Given the description of an element on the screen output the (x, y) to click on. 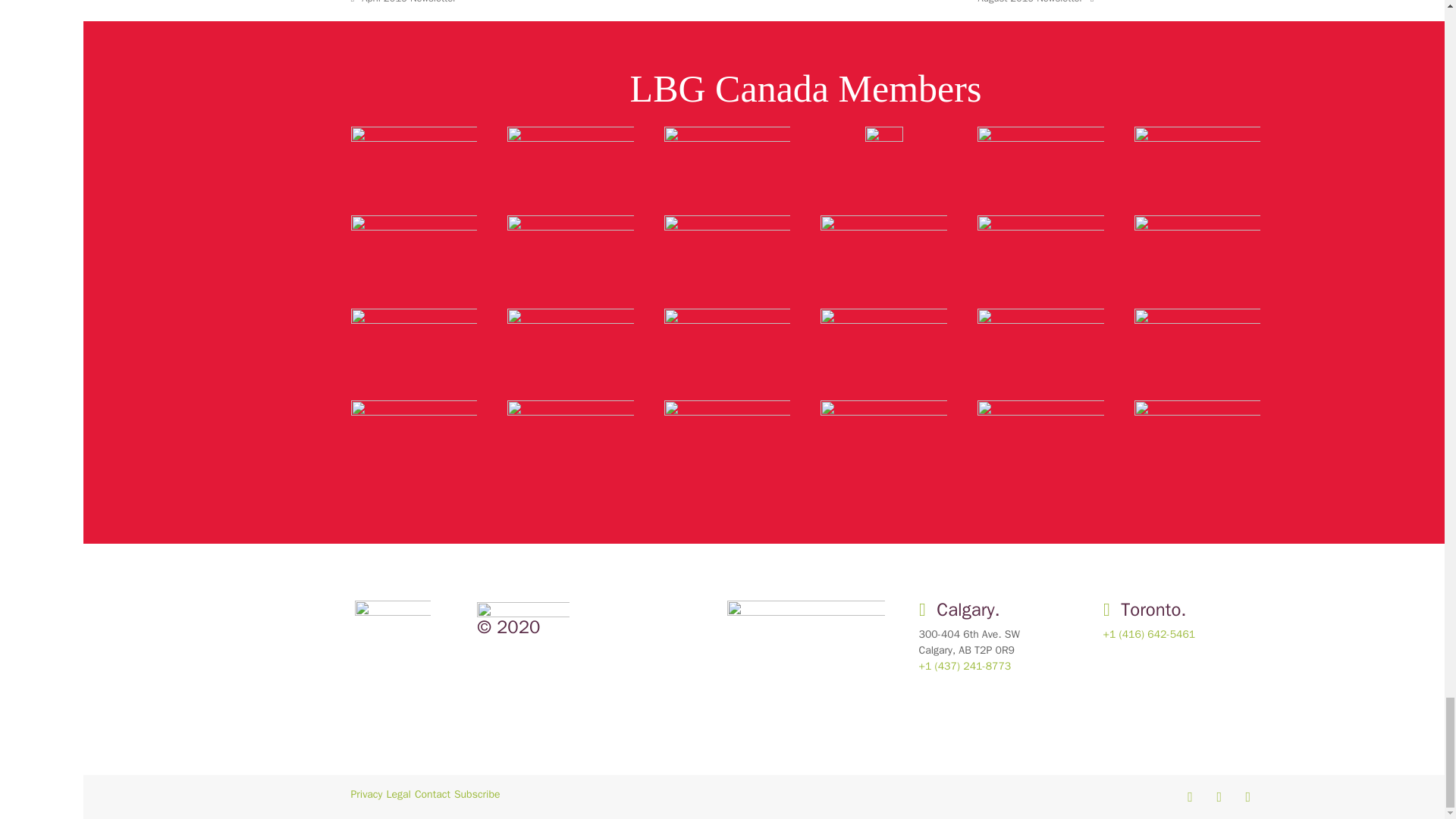
simpact-logo-footer (523, 609)
footer-map (804, 666)
Twitter (1189, 796)
